Given the description of an element on the screen output the (x, y) to click on. 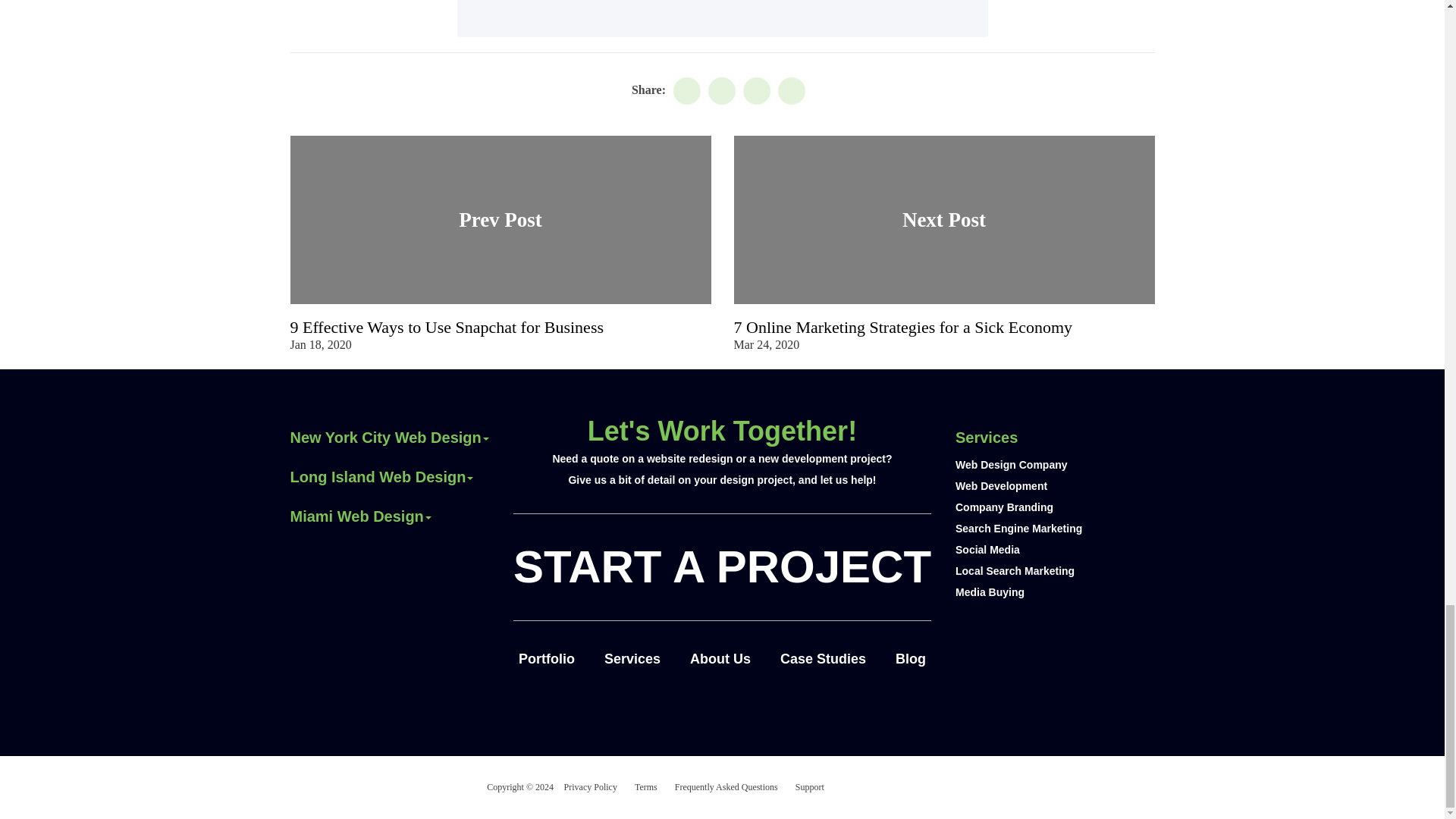
Pinterest (791, 90)
LinkedIn (721, 90)
Facebook (686, 90)
Twitter (756, 90)
